Given the description of an element on the screen output the (x, y) to click on. 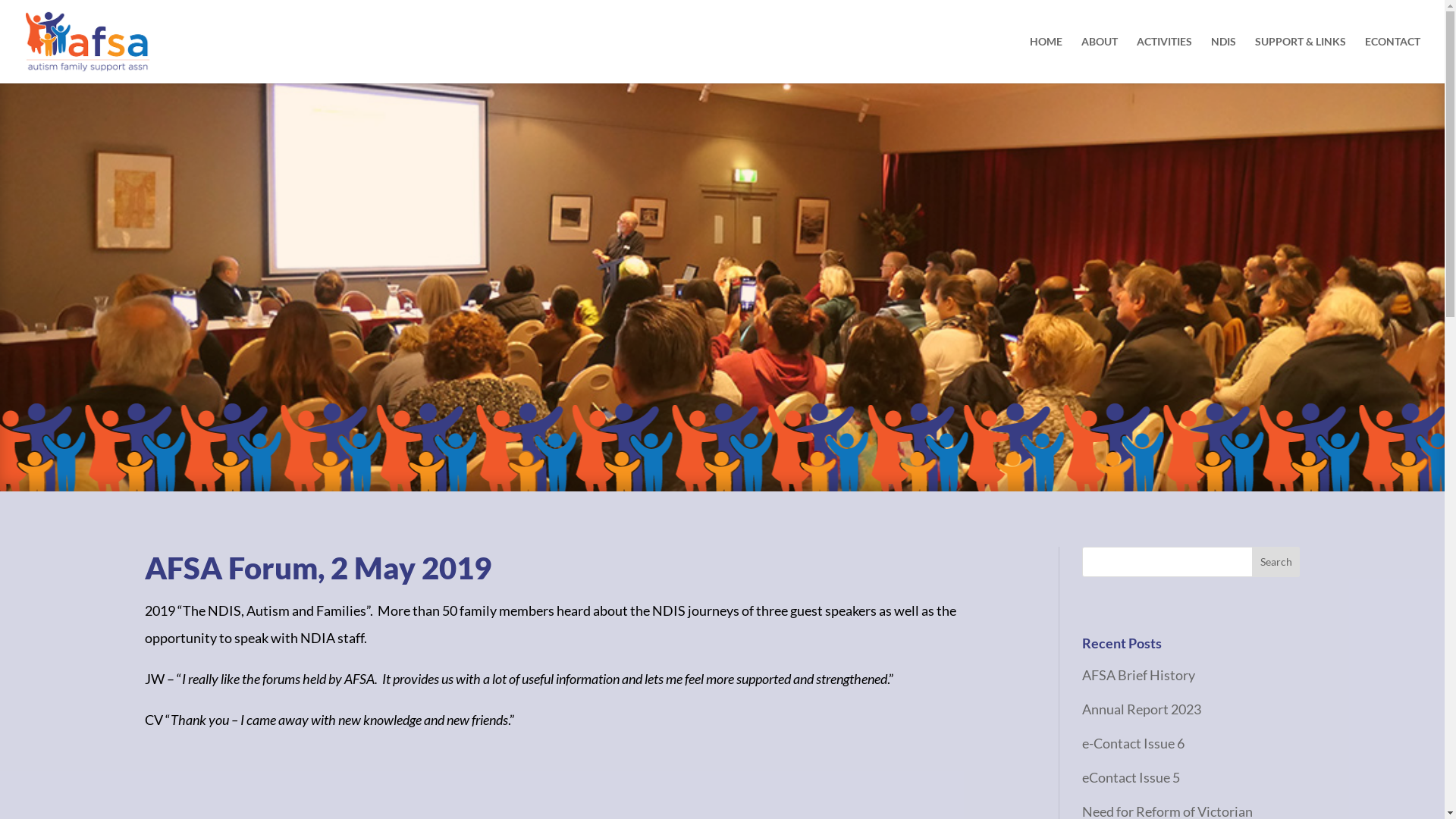
ABOUT Element type: text (1099, 59)
AFSA Brief History Element type: text (1138, 674)
e-Contact Issue 6 Element type: text (1133, 742)
ECONTACT Element type: text (1392, 59)
ACTIVITIES Element type: text (1164, 59)
HOME Element type: text (1045, 59)
Annual Report 2023 Element type: text (1141, 708)
Search Element type: text (1276, 561)
eContact Issue 5 Element type: text (1130, 776)
NDIS Element type: text (1223, 59)
SUPPORT & LINKS Element type: text (1300, 59)
